Given the description of an element on the screen output the (x, y) to click on. 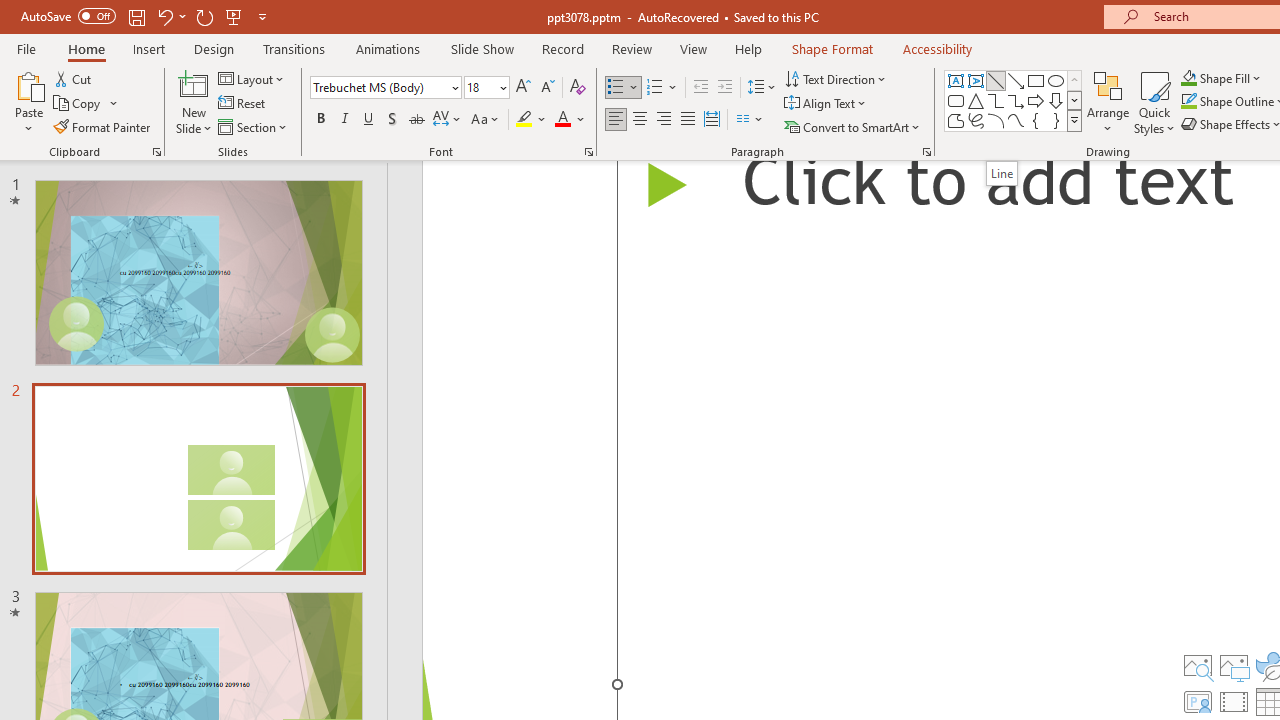
Rectangle: Rounded Corners (955, 100)
Font (379, 87)
Align Right (663, 119)
Line (1001, 173)
Stock Images (1197, 665)
Distributed (712, 119)
Line Arrow (1016, 80)
Character Spacing (447, 119)
Insert Video (1234, 701)
Increase Indent (725, 87)
Row Down (1074, 100)
Row up (1074, 79)
Isosceles Triangle (975, 100)
